Given the description of an element on the screen output the (x, y) to click on. 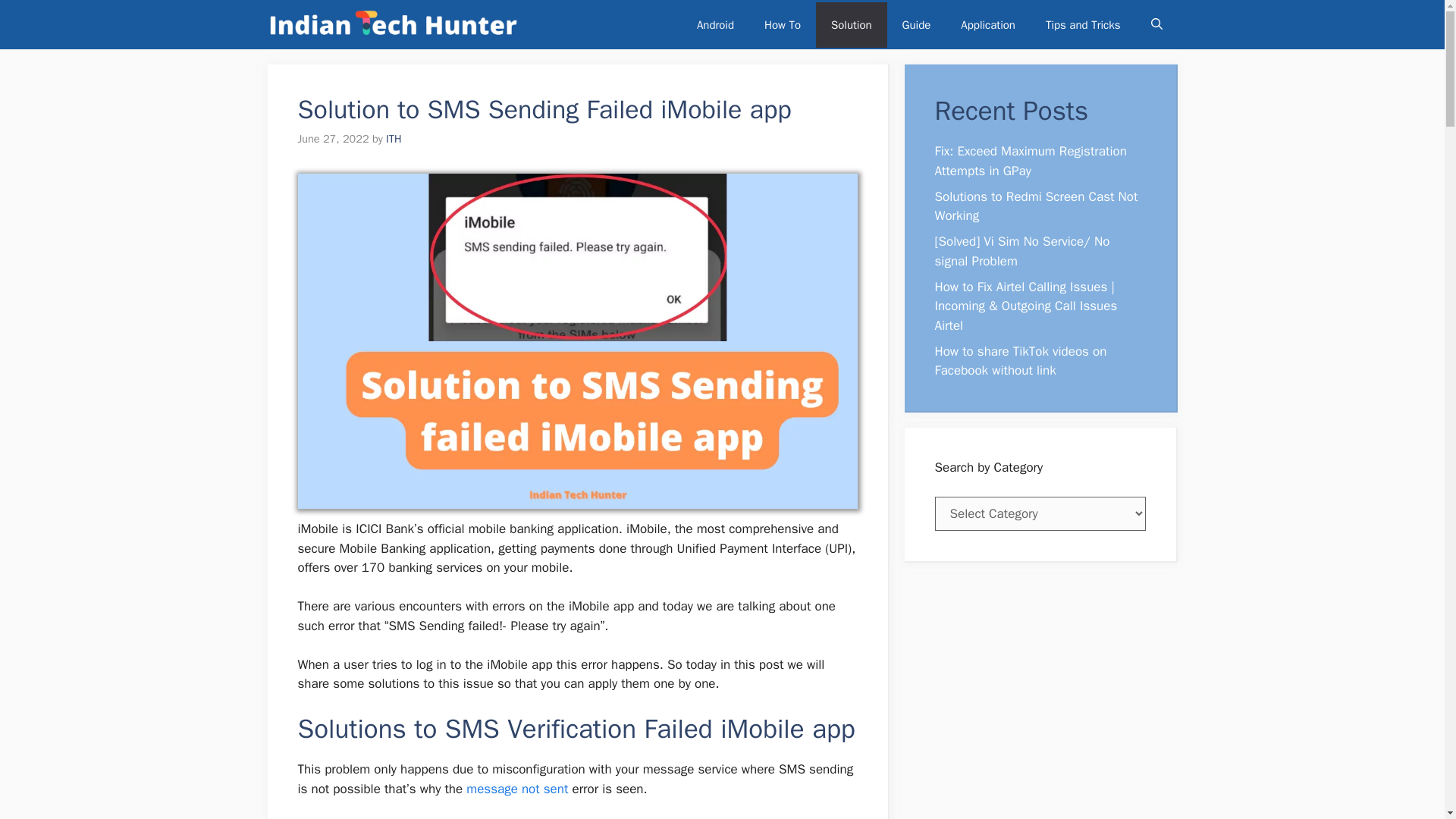
message not sent (516, 788)
ITH (393, 138)
How To (782, 23)
Solution (850, 23)
Android (715, 23)
Guide (916, 23)
Tips and Tricks (1082, 23)
View all posts by ITH (393, 138)
Indian Tech Hunter (392, 24)
